Given the description of an element on the screen output the (x, y) to click on. 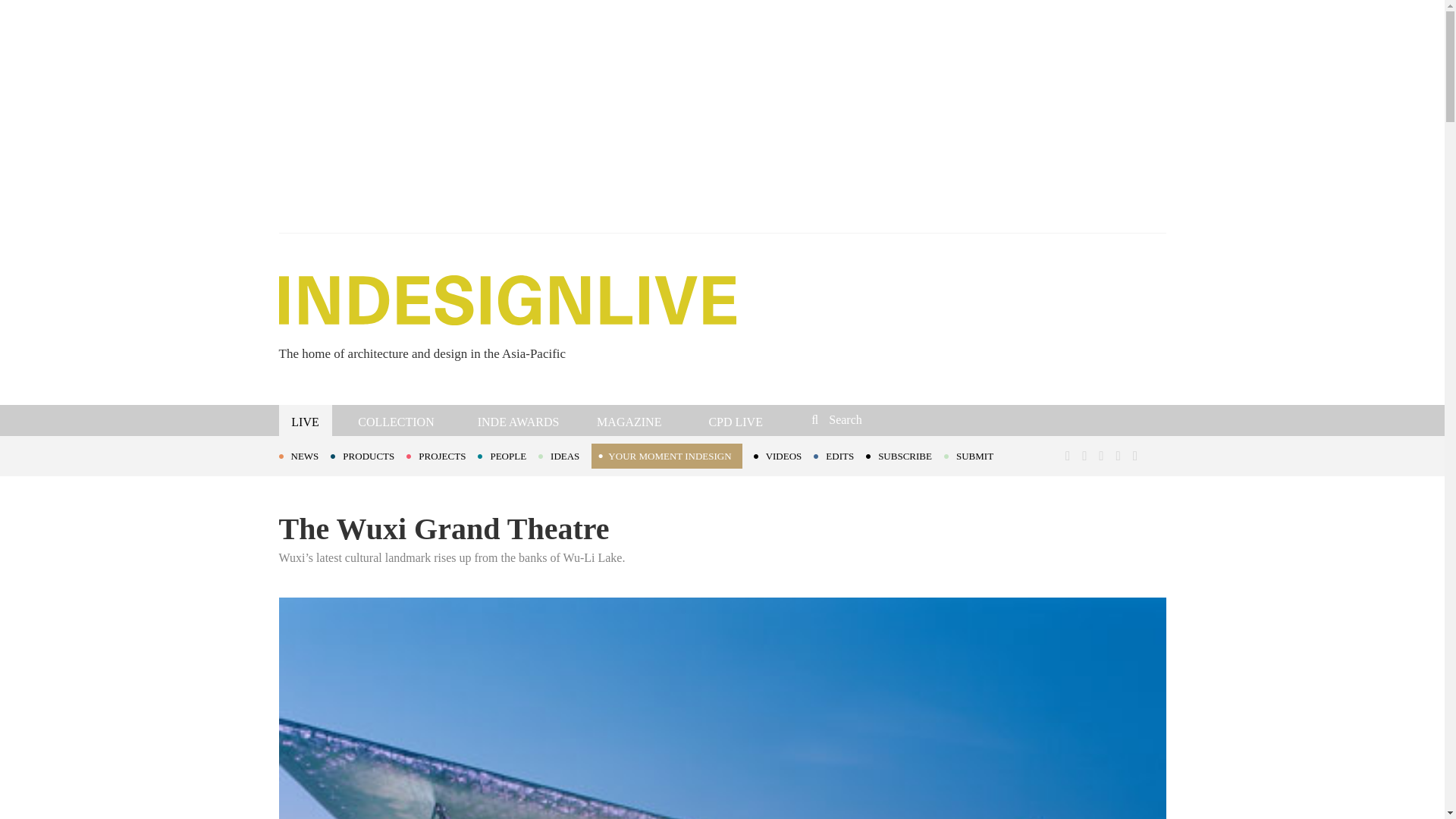
IDEAS (564, 455)
SUBMIT (974, 455)
PROJECTS (441, 455)
VIDEOS (783, 455)
SUBSCRIBE (904, 455)
Search (913, 418)
EDITS (839, 455)
PEOPLE (507, 455)
PRODUCTS (368, 455)
